Given the description of an element on the screen output the (x, y) to click on. 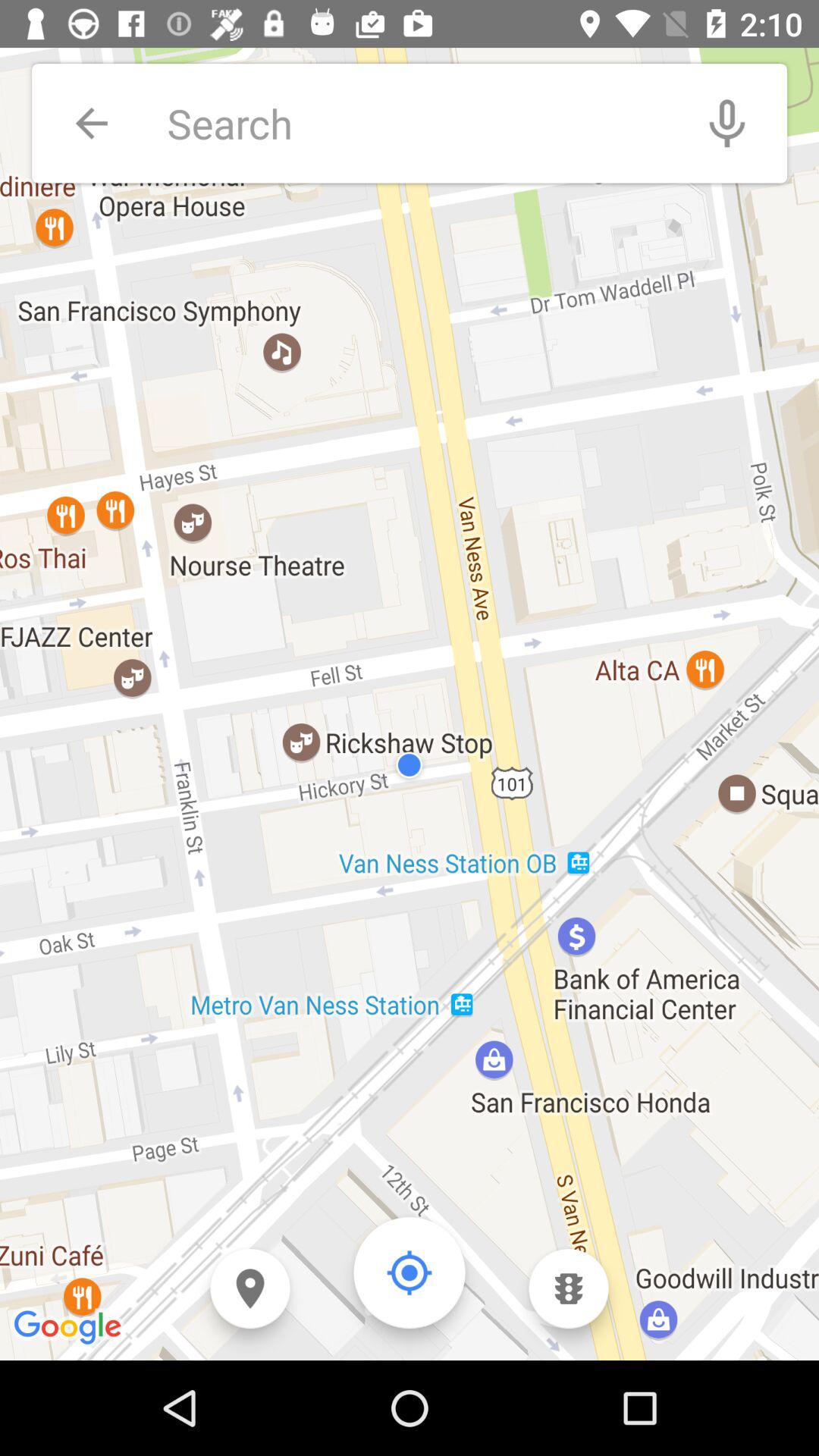
pin location (250, 1288)
